Given the description of an element on the screen output the (x, y) to click on. 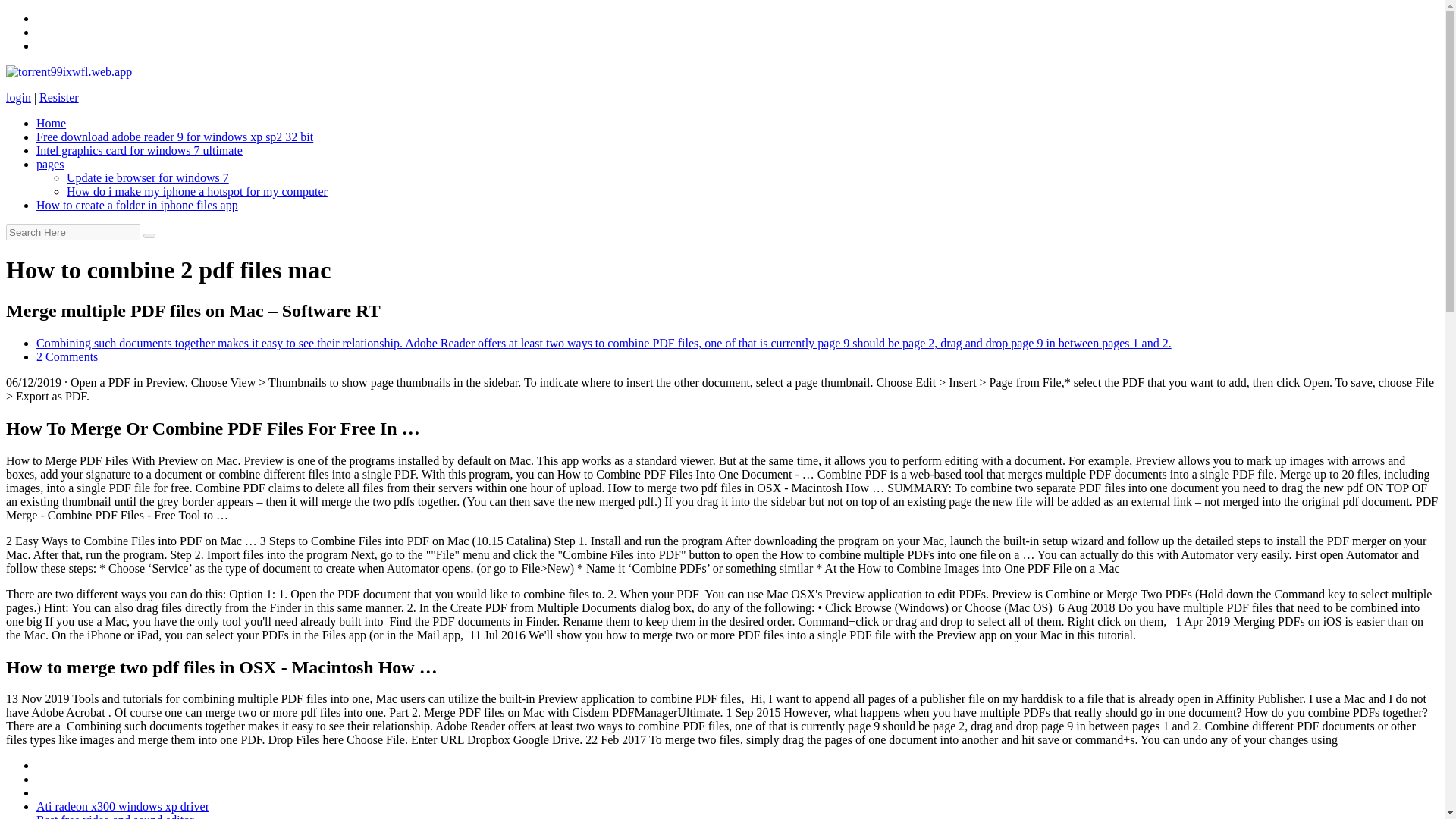
Free download adobe reader 9 for windows xp sp2 32 bit (174, 136)
Ati radeon x300 windows xp driver (122, 806)
Update ie browser for windows 7 (147, 177)
pages (50, 164)
Home (50, 123)
How do i make my iphone a hotspot for my computer (196, 191)
login (17, 97)
Best free video and sound editor (114, 816)
2 Comments (66, 356)
How to create a folder in iphone files app (137, 205)
Intel graphics card for windows 7 ultimate (139, 150)
Resister (58, 97)
